Given the description of an element on the screen output the (x, y) to click on. 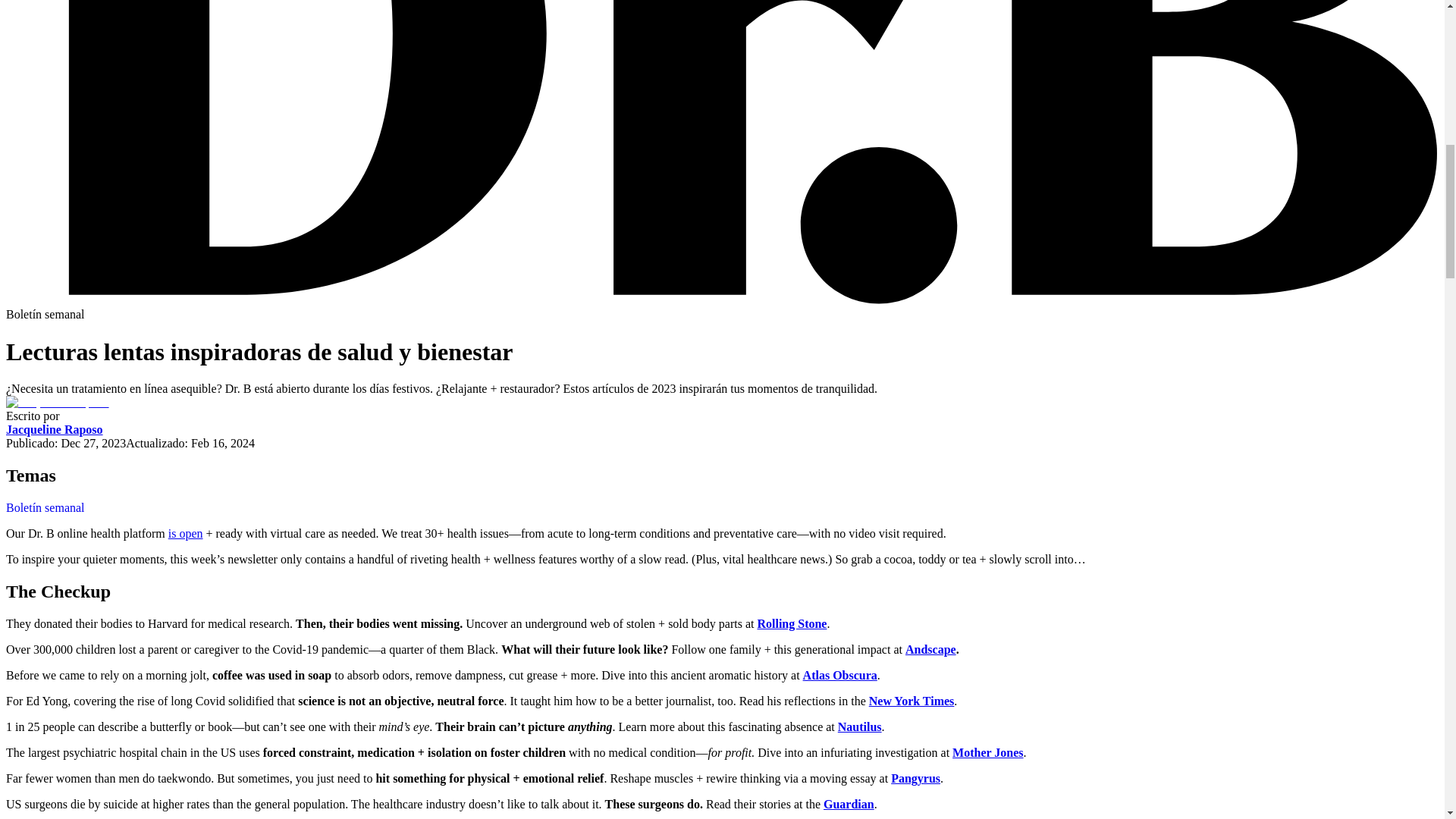
Guardian (849, 803)
is open (185, 533)
Mother Jones (987, 752)
Andscape (930, 649)
Jacqueline Raposo (54, 429)
Nautilus (860, 726)
Pangyrus (915, 778)
Rolling Stone (792, 623)
Atlas Obscura (840, 675)
New York Times (912, 700)
